Given the description of an element on the screen output the (x, y) to click on. 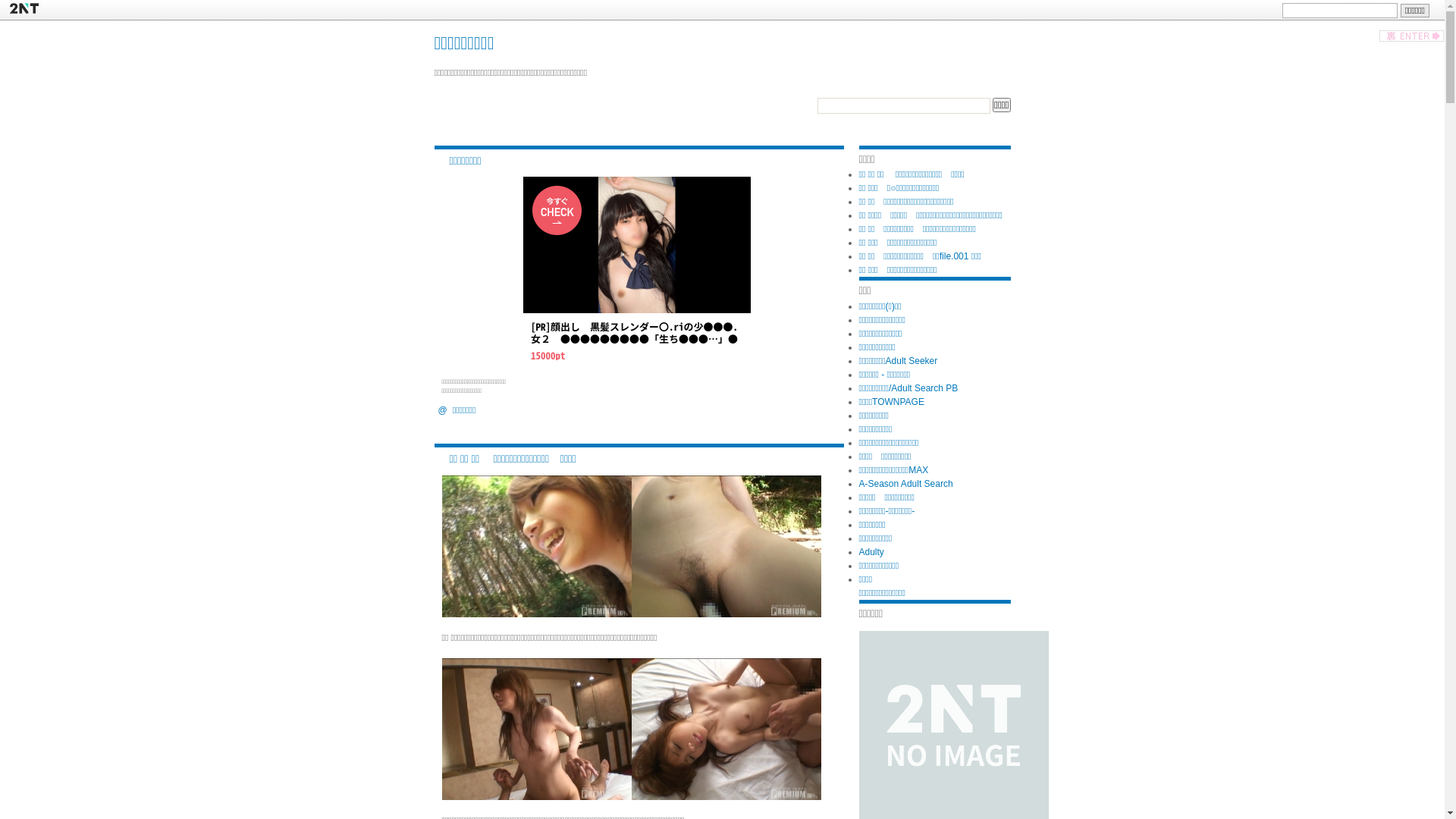
@ Element type: text (442, 409)
A-Season Adult Search Element type: text (905, 483)
Adulty Element type: text (870, 551)
